Given the description of an element on the screen output the (x, y) to click on. 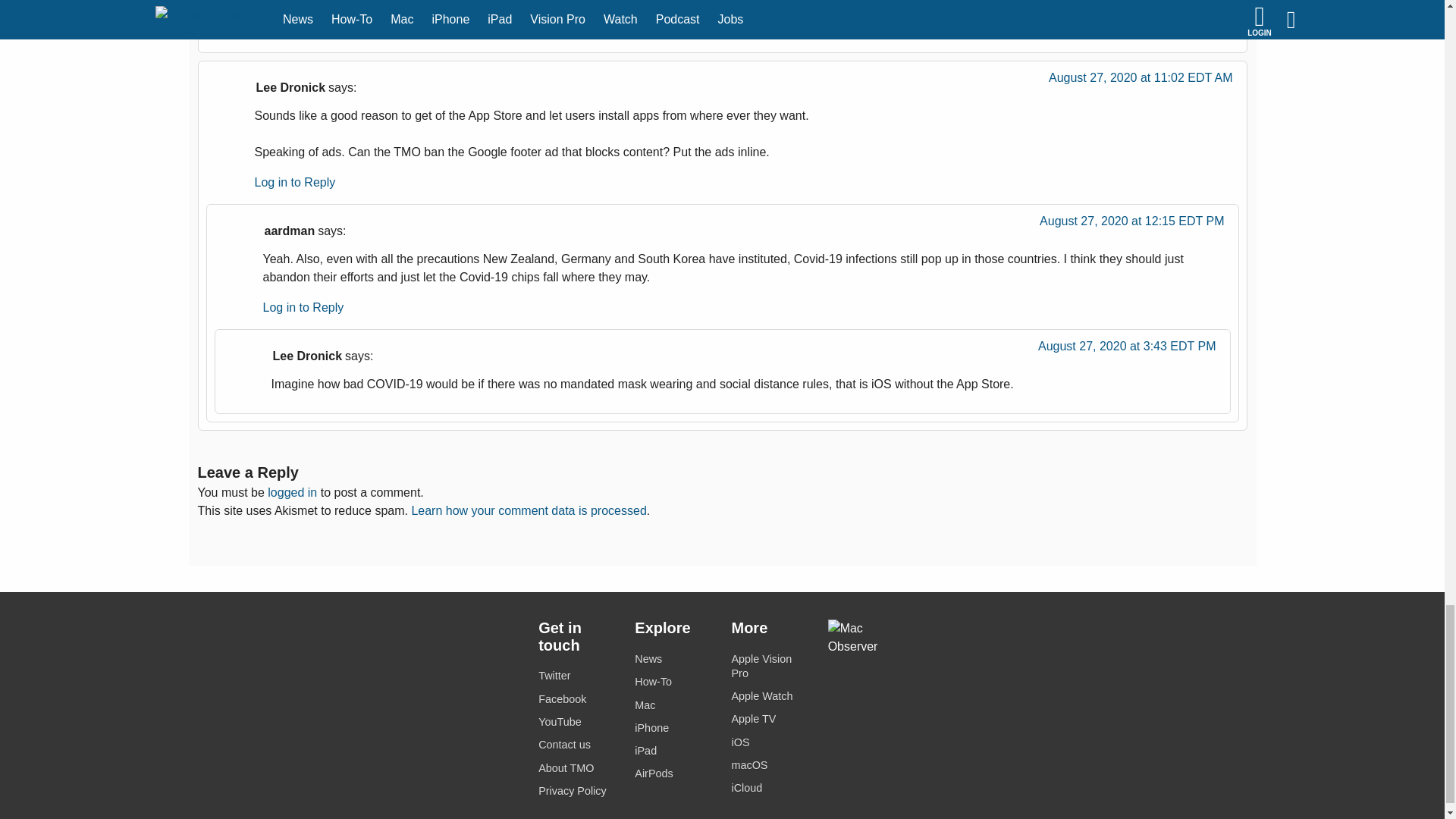
August 27, 2020 at 12:15 EDT PM (1131, 225)
logged in (292, 492)
August 27, 2020 at 11:02 EDT AM (1140, 81)
Learn how your comment data is processed (528, 510)
Twitter (576, 675)
August 27, 2020 at 3:43 EDT PM (1126, 350)
Log in to Reply (295, 182)
Log in to Reply (302, 307)
Log in to Reply (295, 22)
Facebook (576, 699)
